Given the description of an element on the screen output the (x, y) to click on. 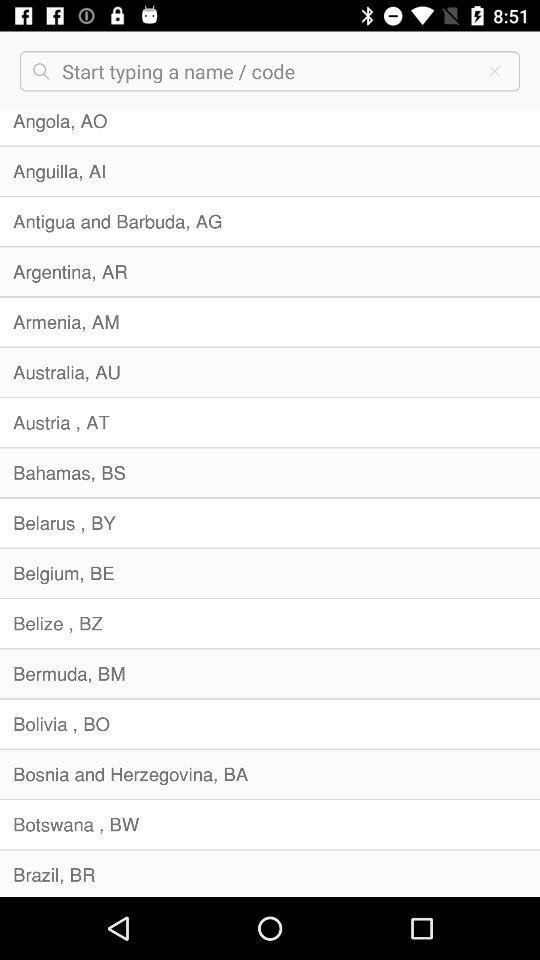
click the antigua and barbuda icon (270, 221)
